Given the description of an element on the screen output the (x, y) to click on. 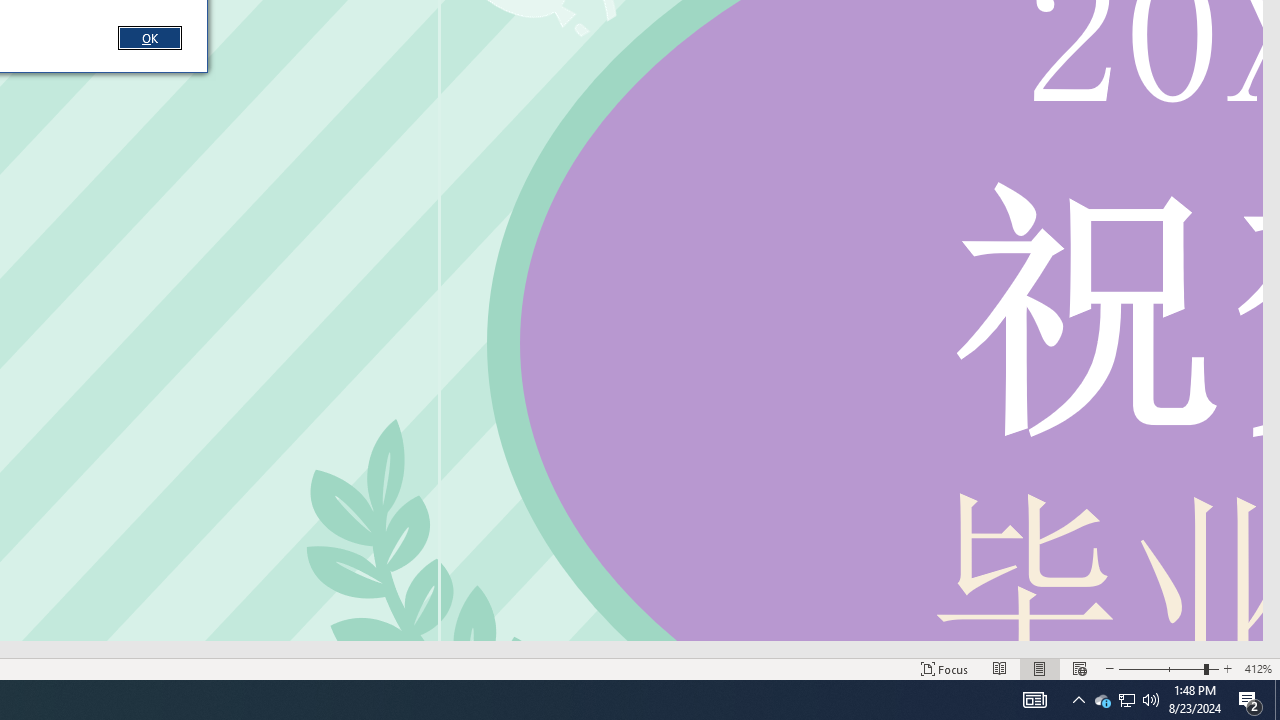
OK (149, 37)
